Given the description of an element on the screen output the (x, y) to click on. 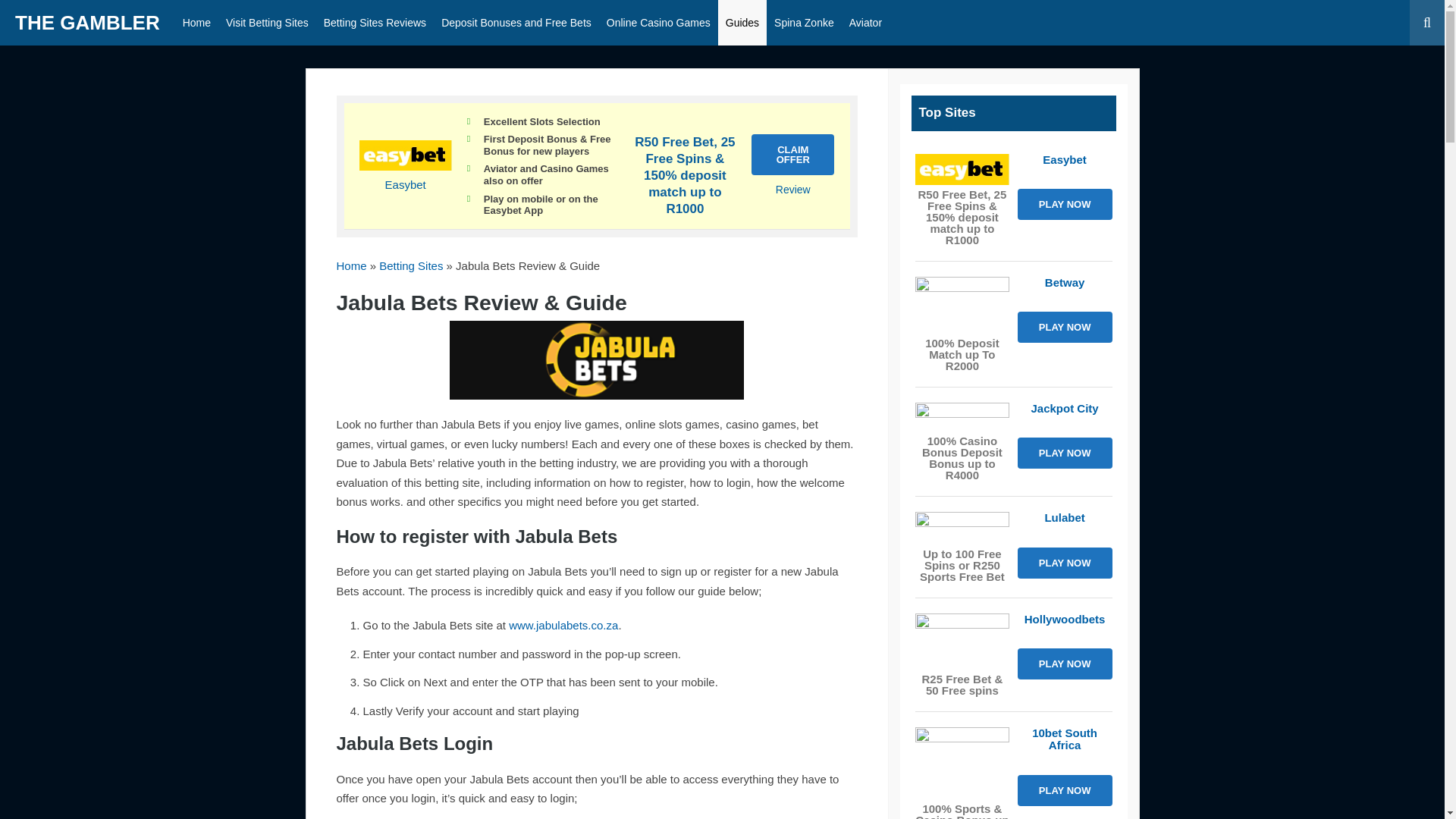
Lulabet (961, 527)
Betway (961, 304)
Hollywoodbets (961, 641)
Easybet (793, 189)
Easybet (961, 169)
Easybet (405, 169)
Jackpot City (961, 417)
10bet South Africa (961, 763)
Easybet (405, 184)
